Given the description of an element on the screen output the (x, y) to click on. 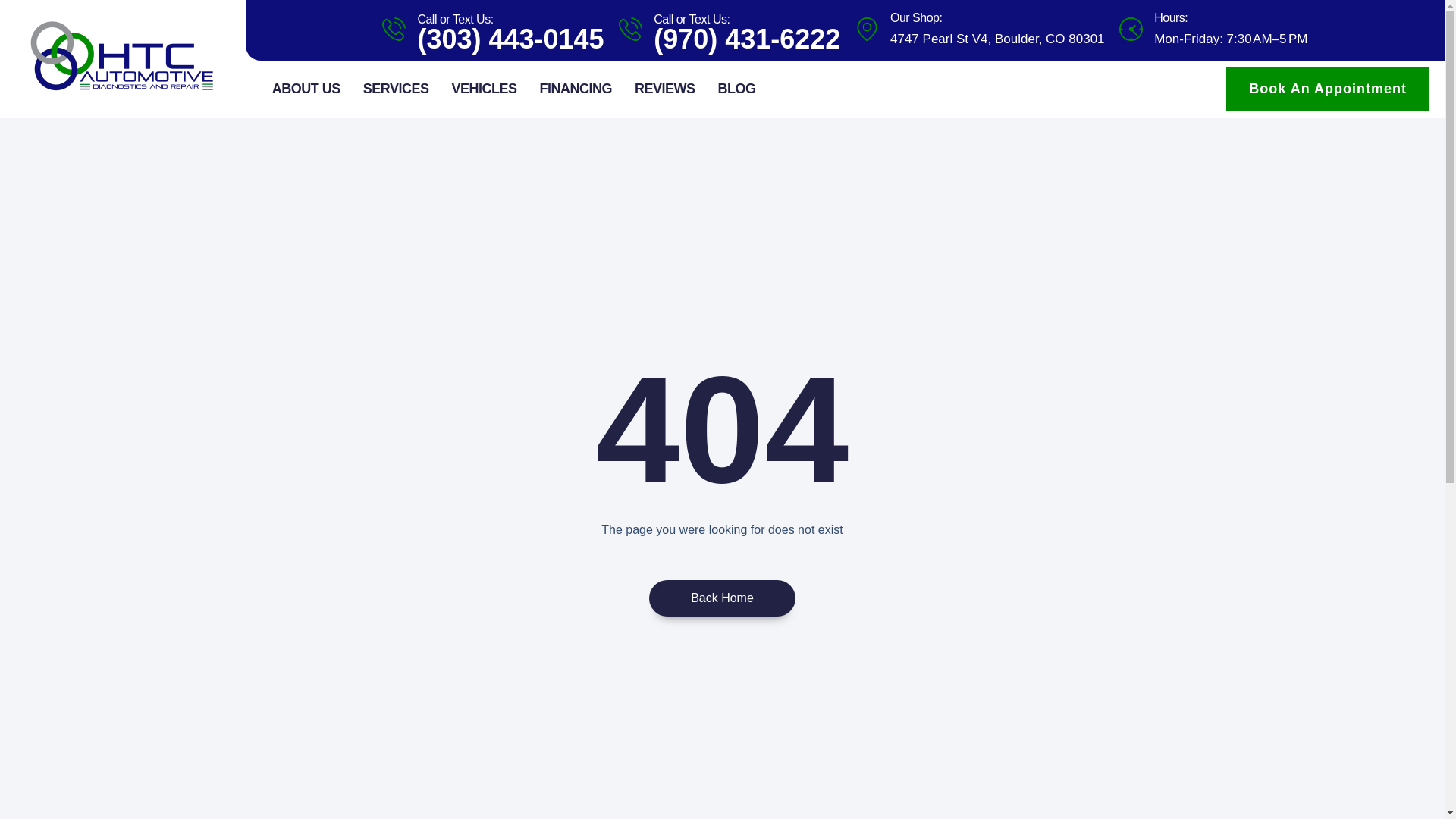
FINANCING (576, 88)
Call or Text Us: (691, 19)
BLOG (736, 88)
ABOUT US (306, 88)
Our Shop: (915, 17)
REVIEWS (664, 88)
VEHICLES (484, 88)
Call or Text Us: (454, 19)
SERVICES (396, 88)
